Given the description of an element on the screen output the (x, y) to click on. 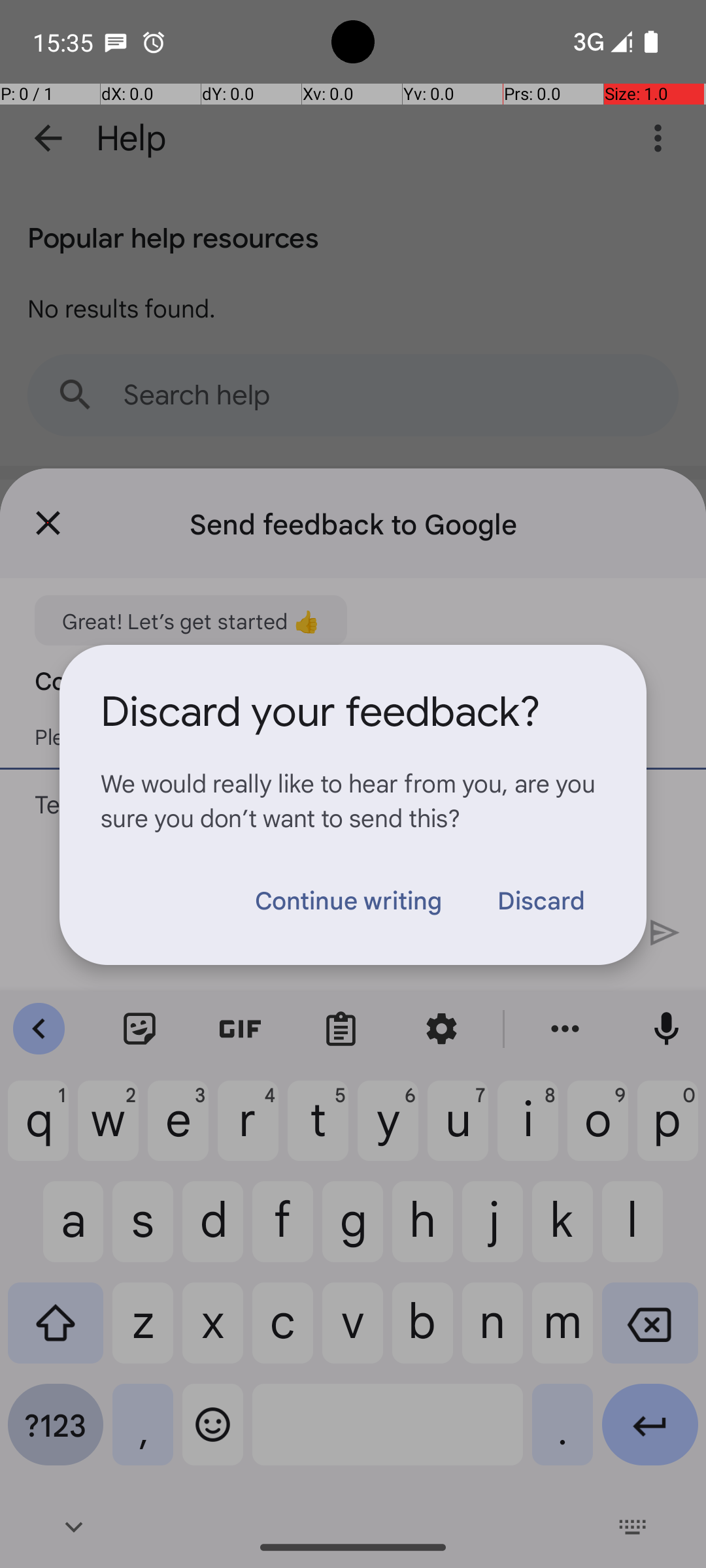
Discard your feedback? Element type: android.widget.TextView (320, 712)
We would really like to hear from you, are you sure you don’t want to send this? Element type: android.widget.TextView (352, 799)
Continue writing Element type: android.widget.Button (347, 899)
Discard Element type: android.widget.Button (540, 899)
